Given the description of an element on the screen output the (x, y) to click on. 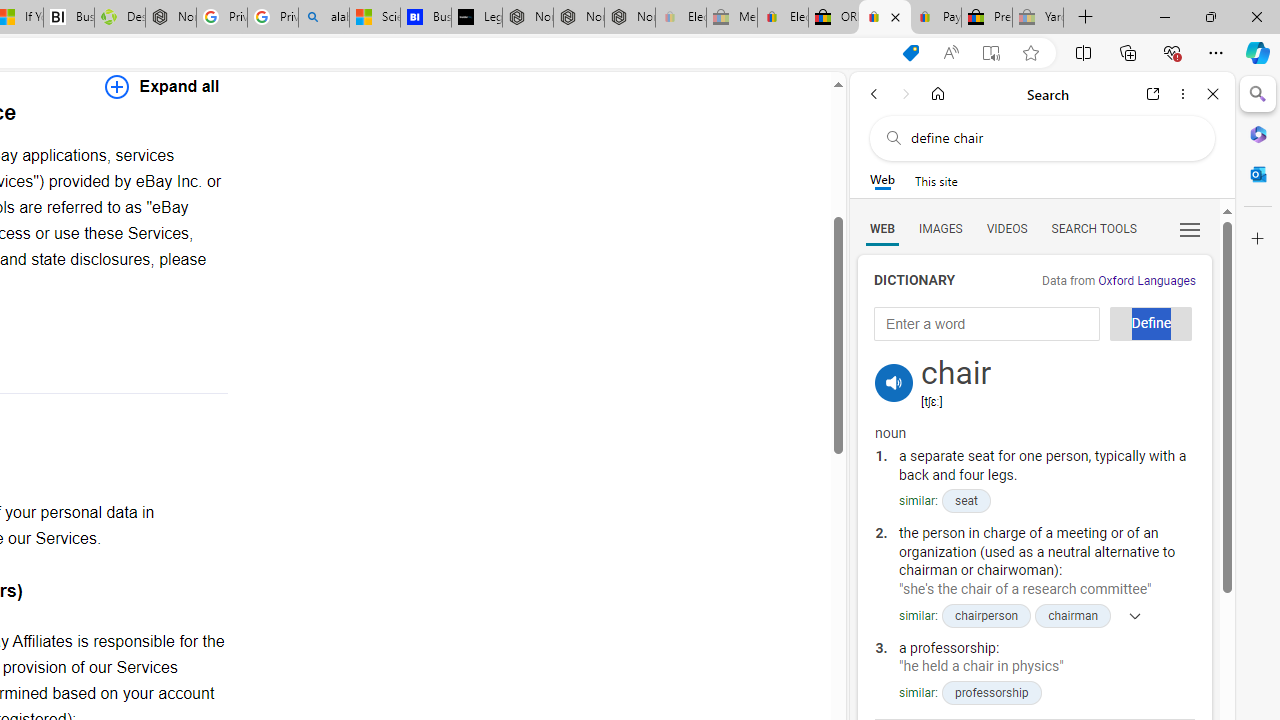
Nordace - My Account (170, 17)
